Given the description of an element on the screen output the (x, y) to click on. 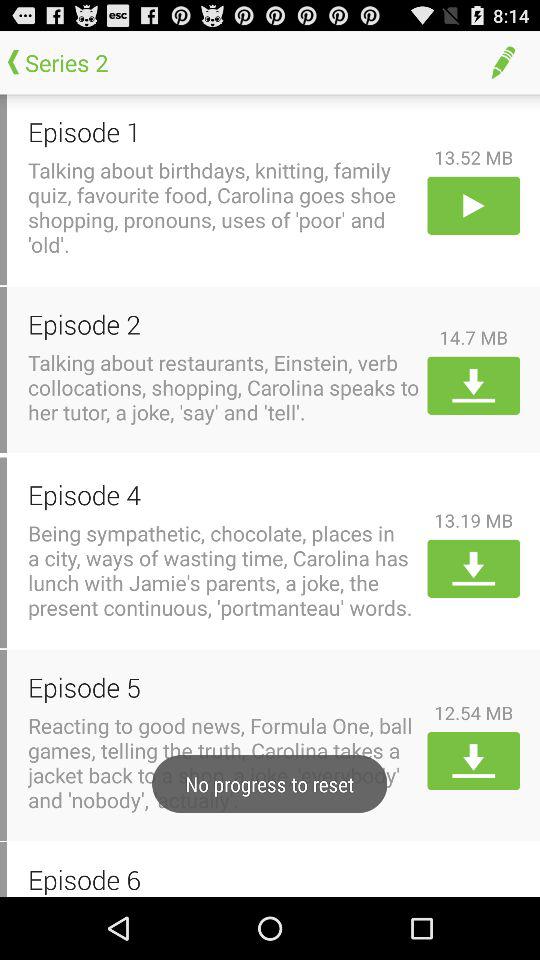
play content (473, 205)
